Given the description of an element on the screen output the (x, y) to click on. 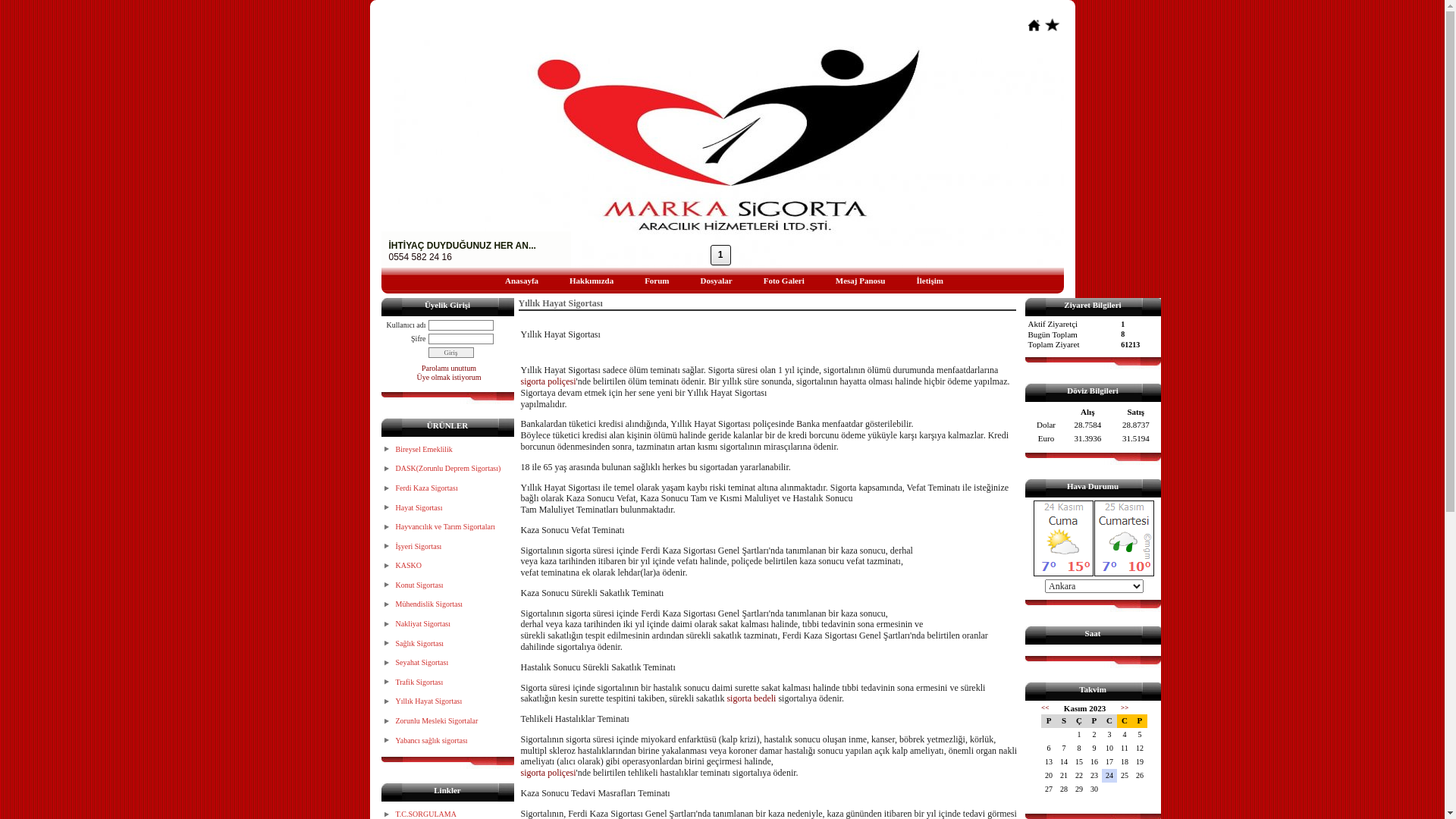
1 Element type: text (1078, 734)
26 Element type: text (1139, 775)
11 Element type: text (1124, 748)
12 Element type: text (1139, 748)
>> Element type: text (1124, 707)
10 Element type: text (1109, 748)
4 Element type: text (1124, 734)
3 Element type: text (1109, 734)
13 Element type: text (1048, 761)
5 Element type: text (1139, 734)
17 Element type: text (1109, 761)
2 Element type: text (1093, 734)
14 Element type: text (1063, 761)
27 Element type: text (1048, 789)
25 Element type: text (1124, 775)
Bireysel Emeklilik Element type: text (448, 449)
Mesaj Panosu Element type: text (858, 279)
Foto Galeri Element type: text (782, 279)
Zorunlu Mesleki Sigortalar Element type: text (448, 721)
22 Element type: text (1078, 775)
18 Element type: text (1124, 761)
24 Element type: text (1109, 775)
20 Element type: text (1048, 775)
7 Element type: text (1063, 748)
19 Element type: text (1139, 761)
16 Element type: text (1093, 761)
Forum Element type: text (654, 279)
15 Element type: text (1078, 761)
KASKO Element type: text (448, 565)
<< Element type: text (1044, 707)
8 Element type: text (1078, 748)
28 Element type: text (1063, 789)
9 Element type: text (1093, 748)
sigorta bedeli Element type: text (750, 698)
23 Element type: text (1093, 775)
29 Element type: text (1078, 789)
21 Element type: text (1063, 775)
30 Element type: text (1093, 789)
Anasayfa Element type: text (519, 279)
Dosyalar Element type: text (714, 279)
6 Element type: text (1048, 748)
